Given the description of an element on the screen output the (x, y) to click on. 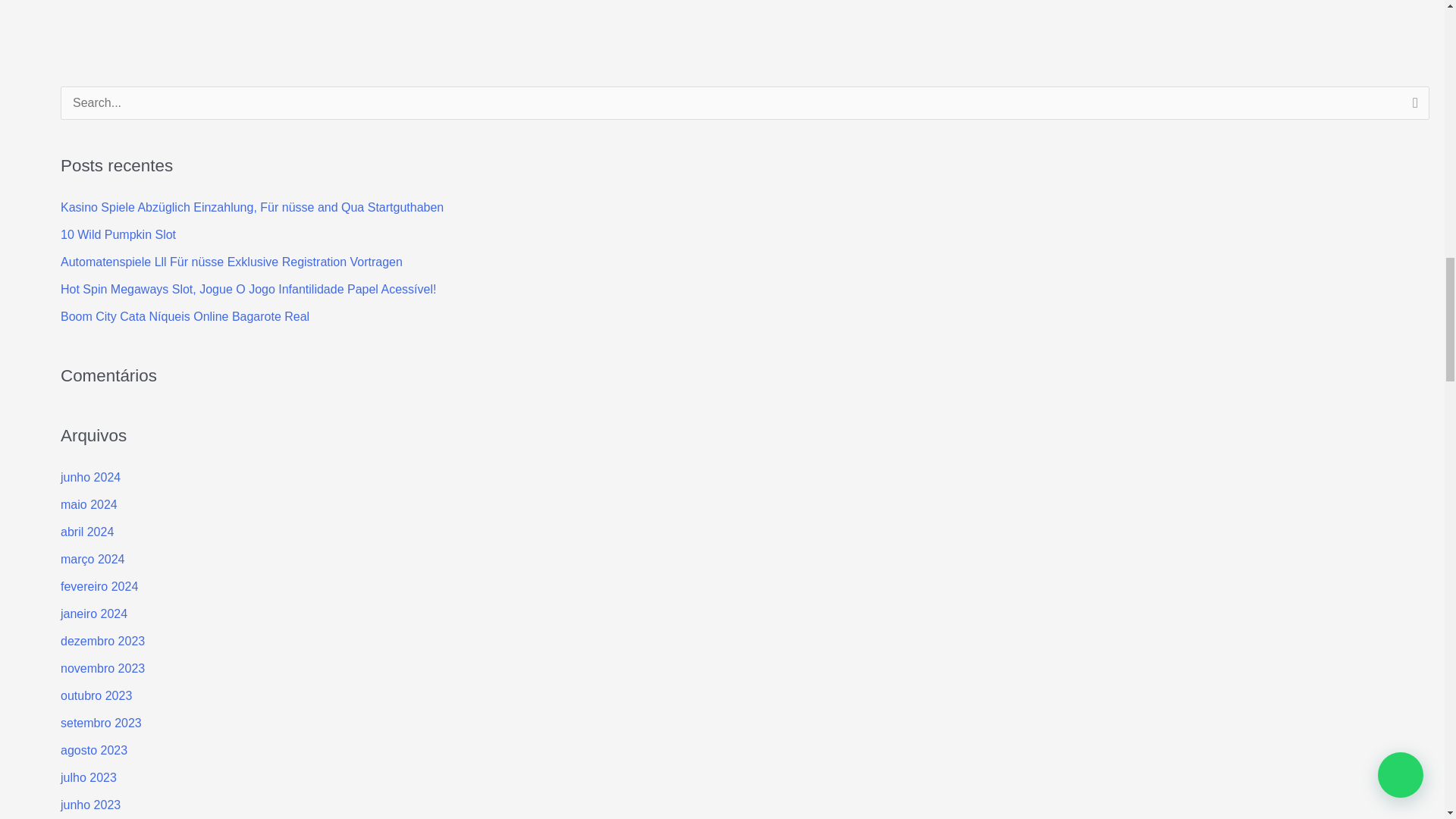
abril 2024 (87, 531)
10 Wild Pumpkin Slot (118, 234)
janeiro 2024 (94, 613)
maio 2024 (89, 504)
dezembro 2023 (102, 640)
junho 2024 (90, 477)
setembro 2023 (101, 722)
novembro 2023 (102, 667)
outubro 2023 (96, 695)
fevereiro 2024 (99, 585)
